Given the description of an element on the screen output the (x, y) to click on. 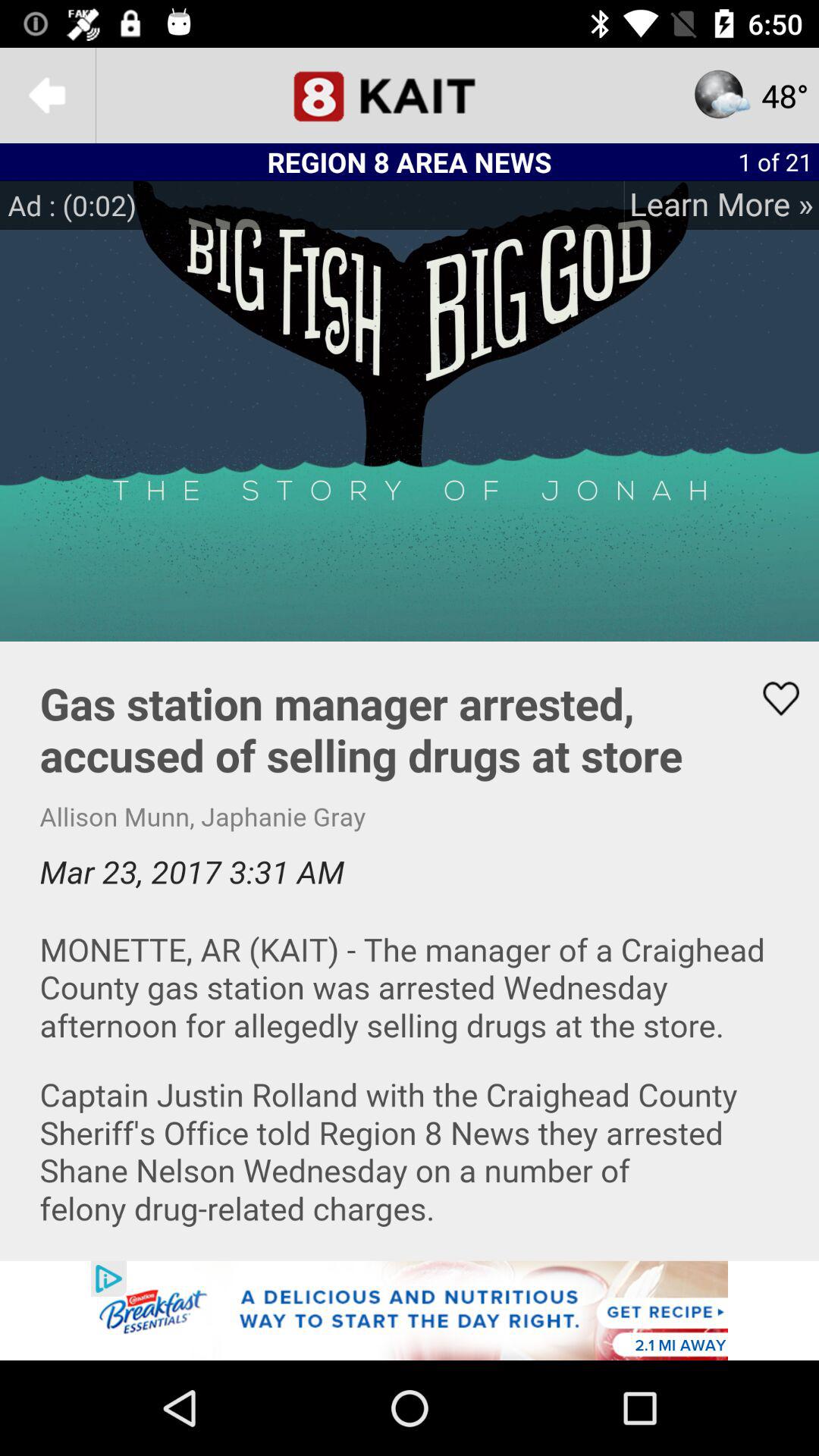
know about the advertisement (409, 1310)
